Given the description of an element on the screen output the (x, y) to click on. 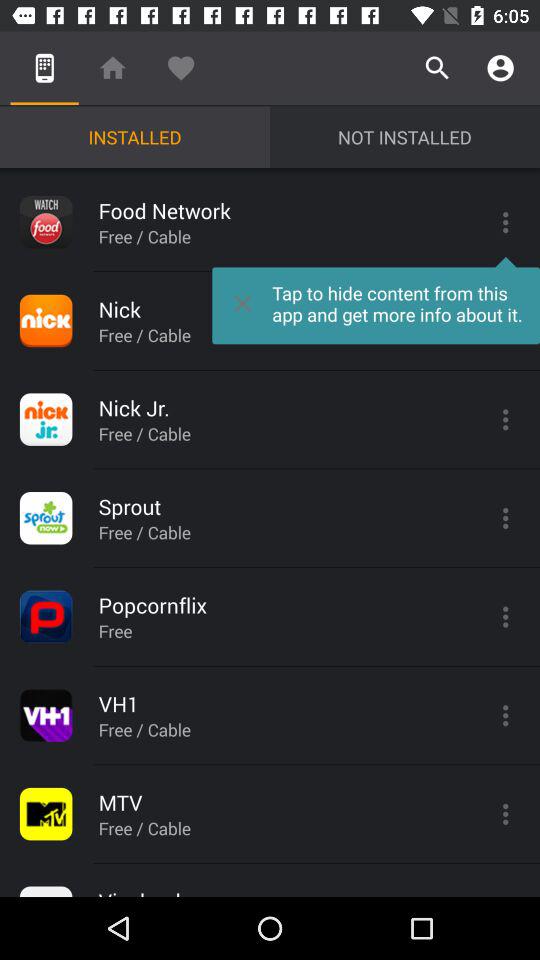
tap the icon above installed (112, 68)
